Given the description of an element on the screen output the (x, y) to click on. 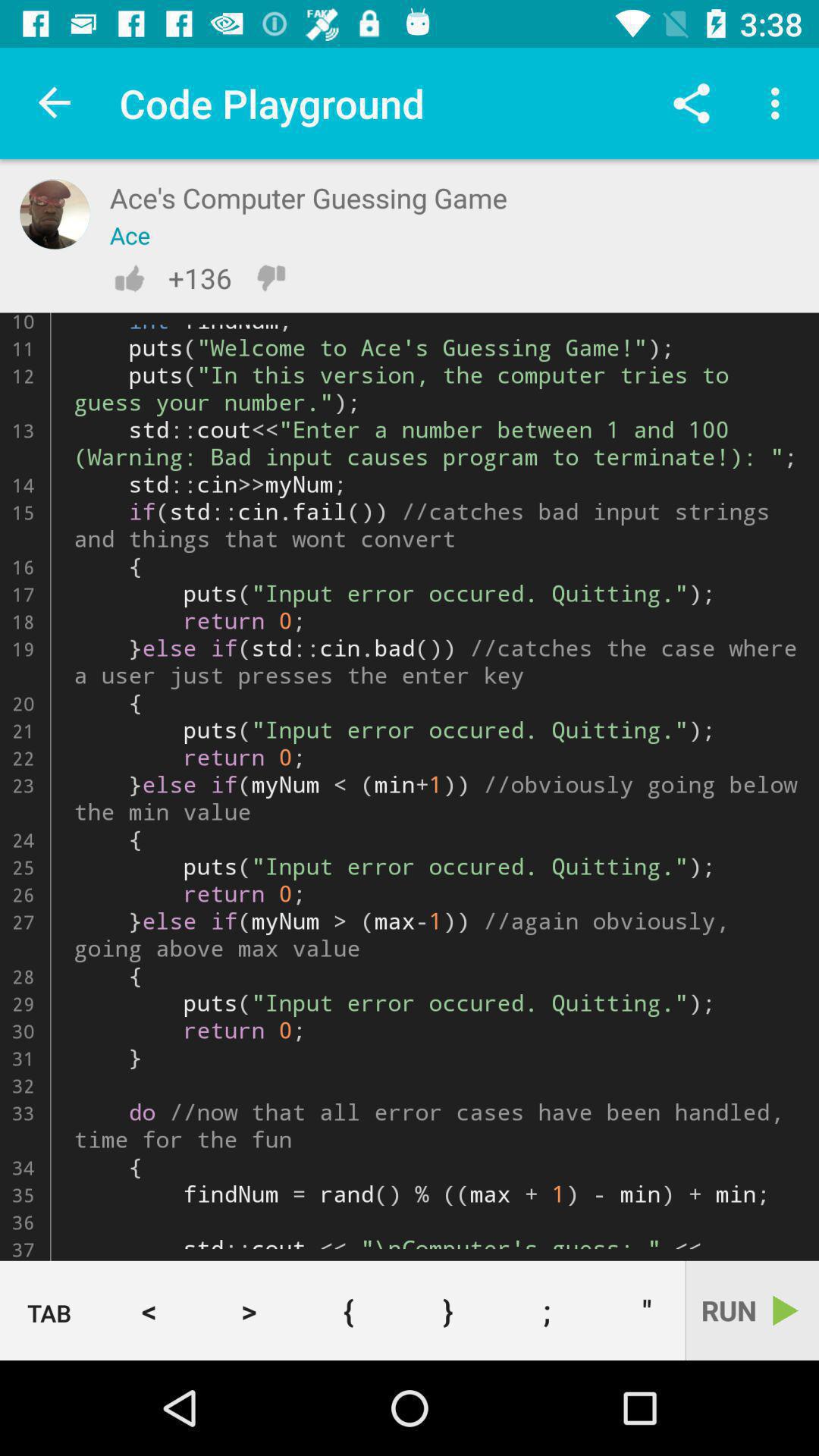
open profile (54, 214)
